Given the description of an element on the screen output the (x, y) to click on. 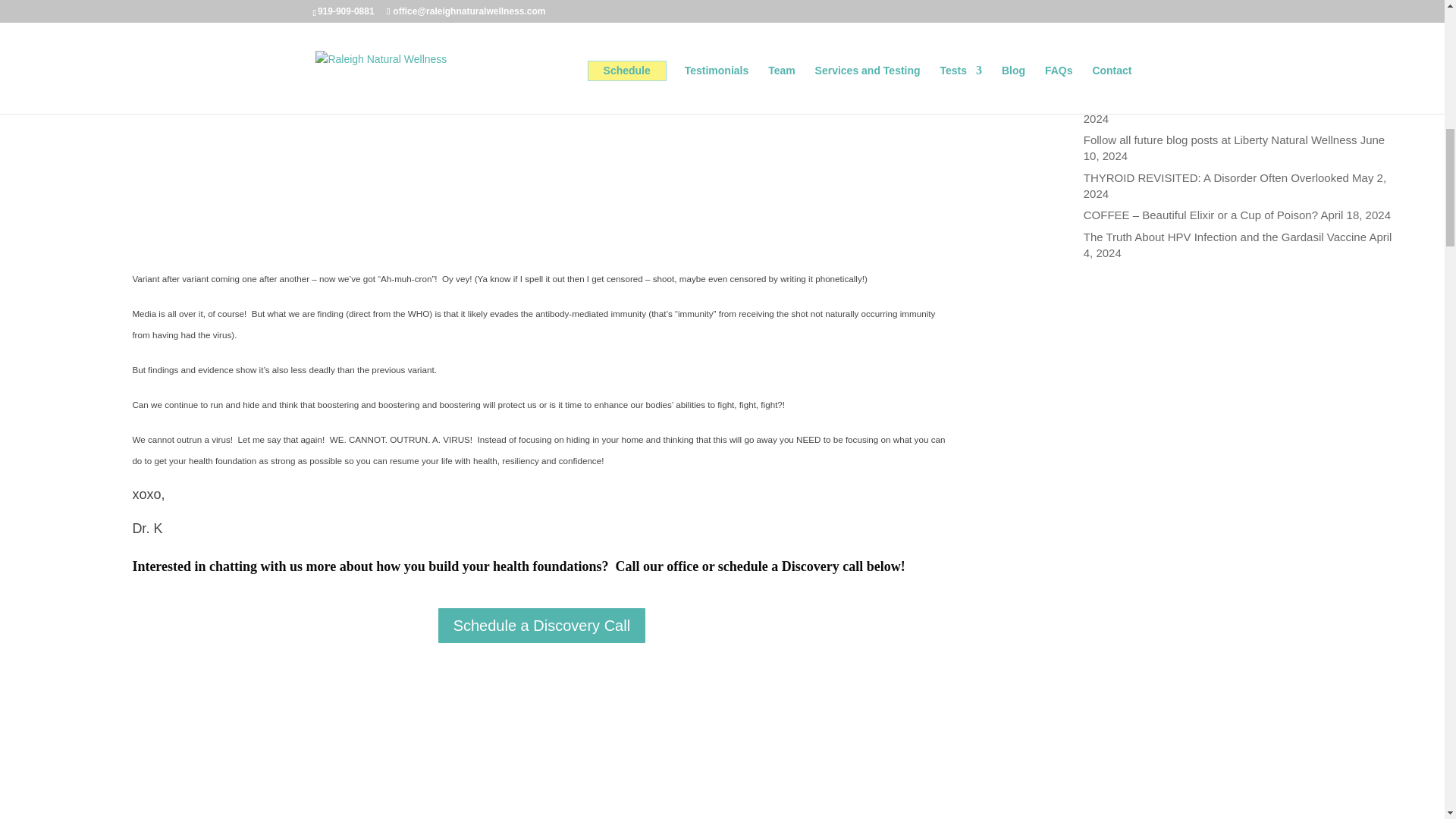
Follow all future blog posts at Liberty Natural Wellness (1219, 139)
Thyroid (1102, 51)
The Truth About HPV Infection and the Gardasil Vaccine (1225, 236)
Thermography (1120, 30)
DEPRESSION: Not Always What You Think It Is (1203, 102)
Variants (541, 113)
Testing (1101, 8)
Schedule a Discovery Call (541, 625)
THYROID REVISITED: A Disorder Often Overlooked (1216, 177)
